Given the description of an element on the screen output the (x, y) to click on. 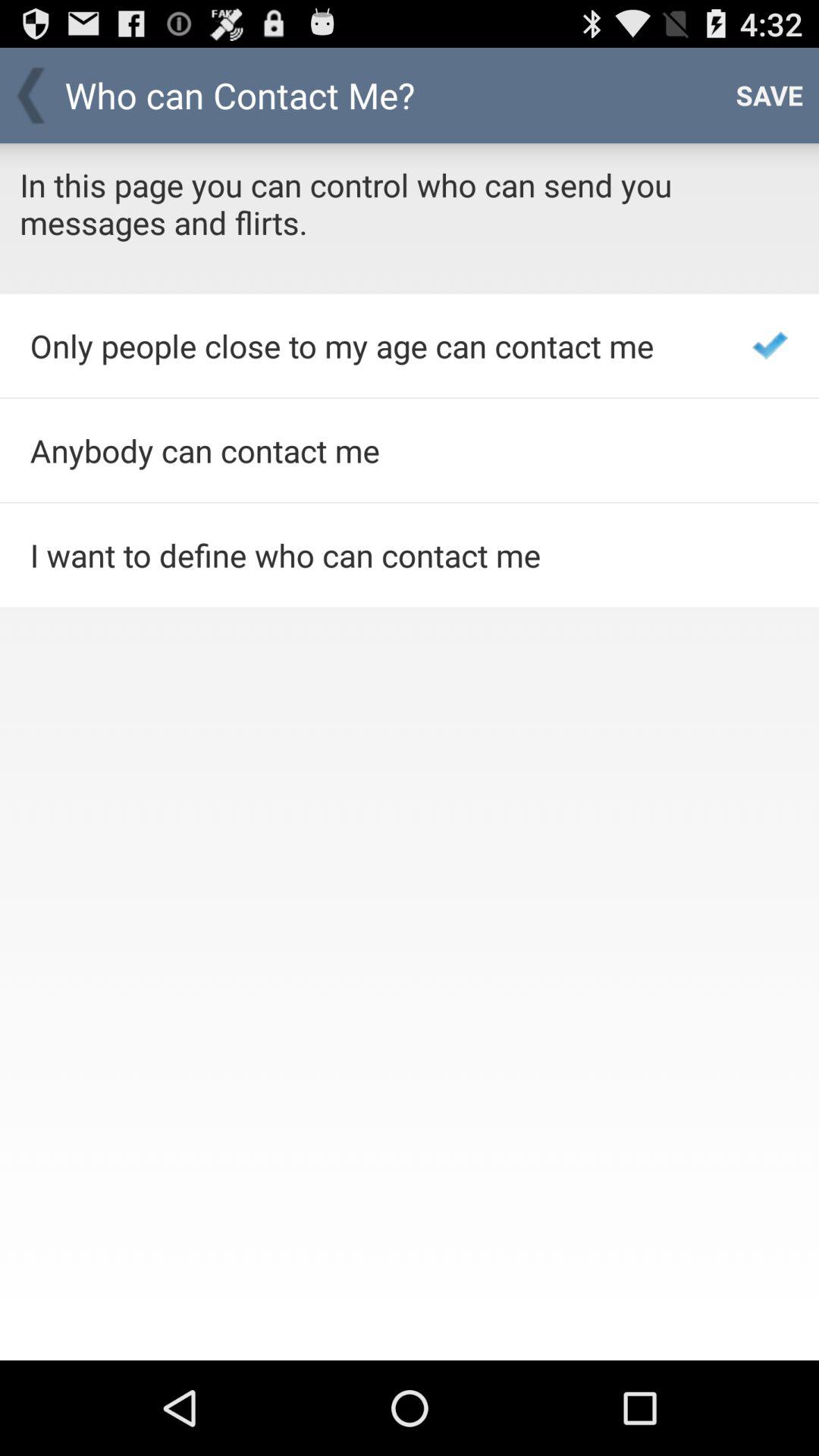
open icon to the right of only people close app (769, 345)
